Given the description of an element on the screen output the (x, y) to click on. 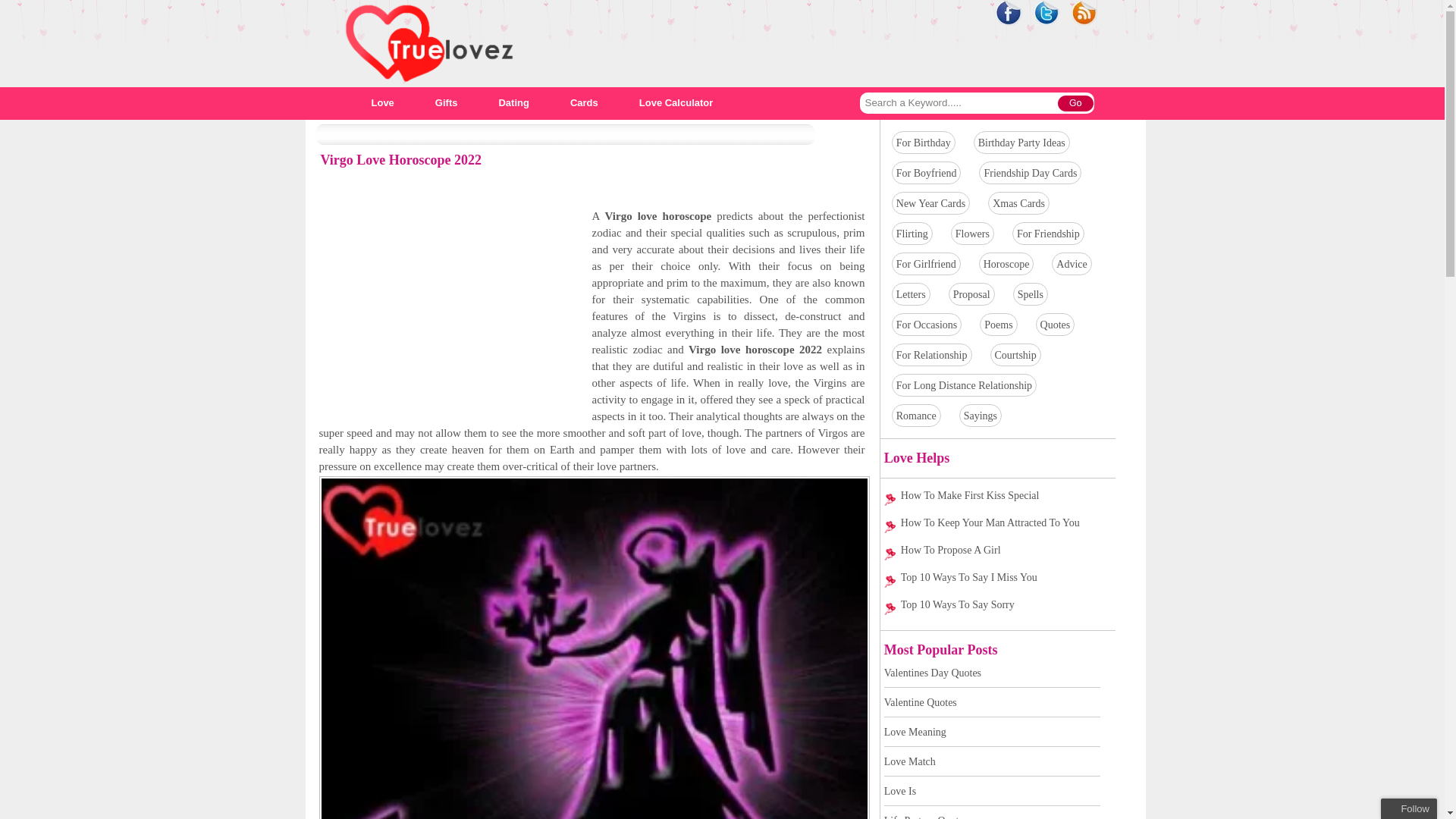
For Boyfriend (926, 173)
Quotes (1055, 324)
Xmas Cards (1018, 203)
How To Keep Your Man Attracted To You (994, 522)
Search a Keyword..... (959, 102)
For Relationship (932, 355)
For Occasions (927, 324)
How To Make First Kiss Special (994, 495)
Courtship (1015, 355)
Dating (512, 101)
Gifts (446, 101)
Poems (997, 324)
Horoscope (1006, 264)
Search a Keyword..... (959, 102)
For Long Distance Relationship (964, 385)
